Given the description of an element on the screen output the (x, y) to click on. 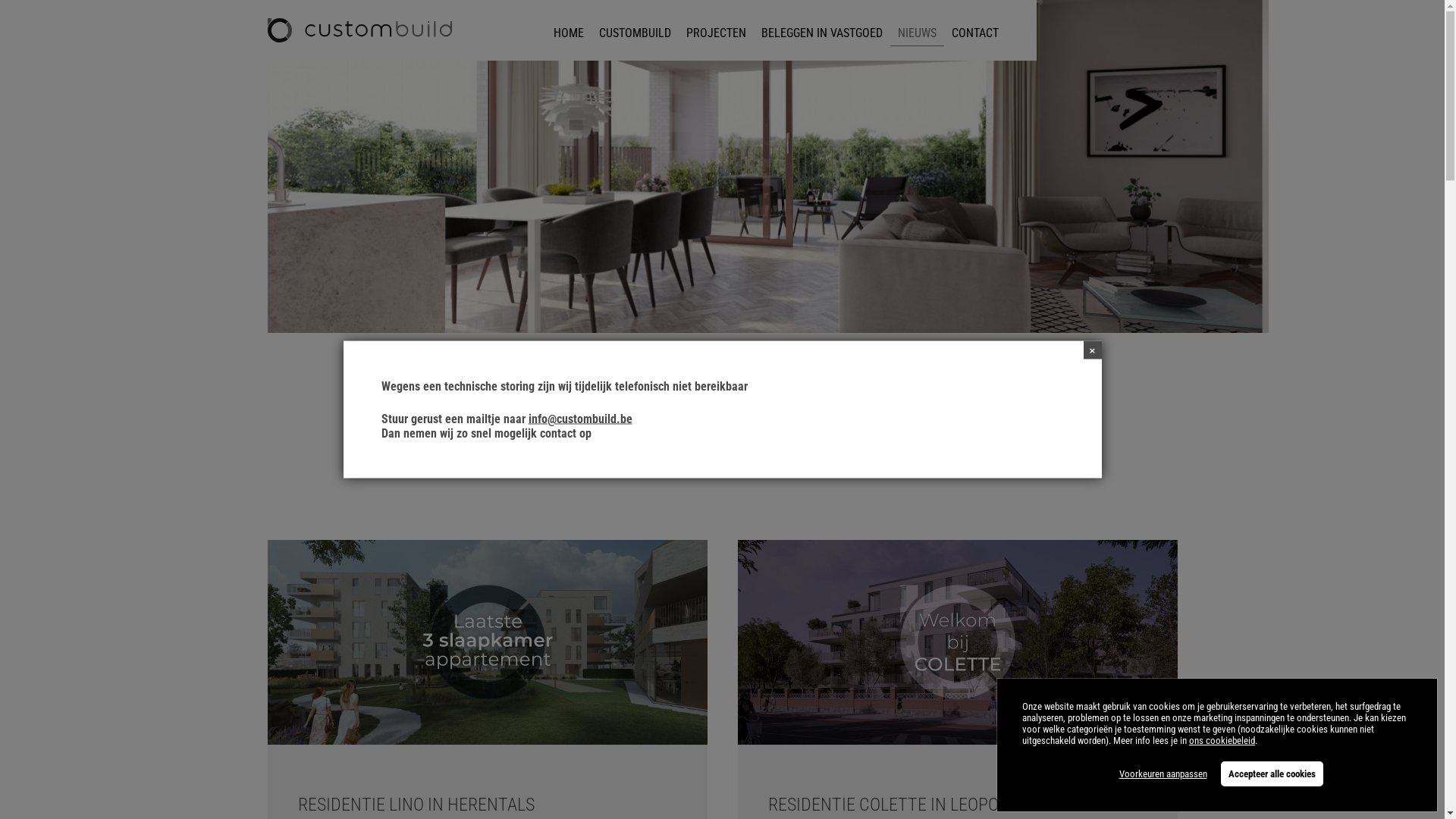
CONTACT Element type: text (974, 33)
CUSTOMBUILD Element type: text (634, 33)
Custombuild Element type: hover (358, 30)
info@custombuild.be Element type: text (579, 418)
Accepteer alle cookies Element type: text (1271, 773)
ons cookiebeleid Element type: text (1222, 740)
BELEGGEN IN VASTGOED Element type: text (821, 33)
PROJECTEN Element type: text (715, 33)
Custombuild Element type: text (358, 30)
NIEUWS Element type: text (917, 33)
HOME Element type: text (568, 33)
Overslaan en naar de inhoud gaan Element type: text (721, 0)
